Given the description of an element on the screen output the (x, y) to click on. 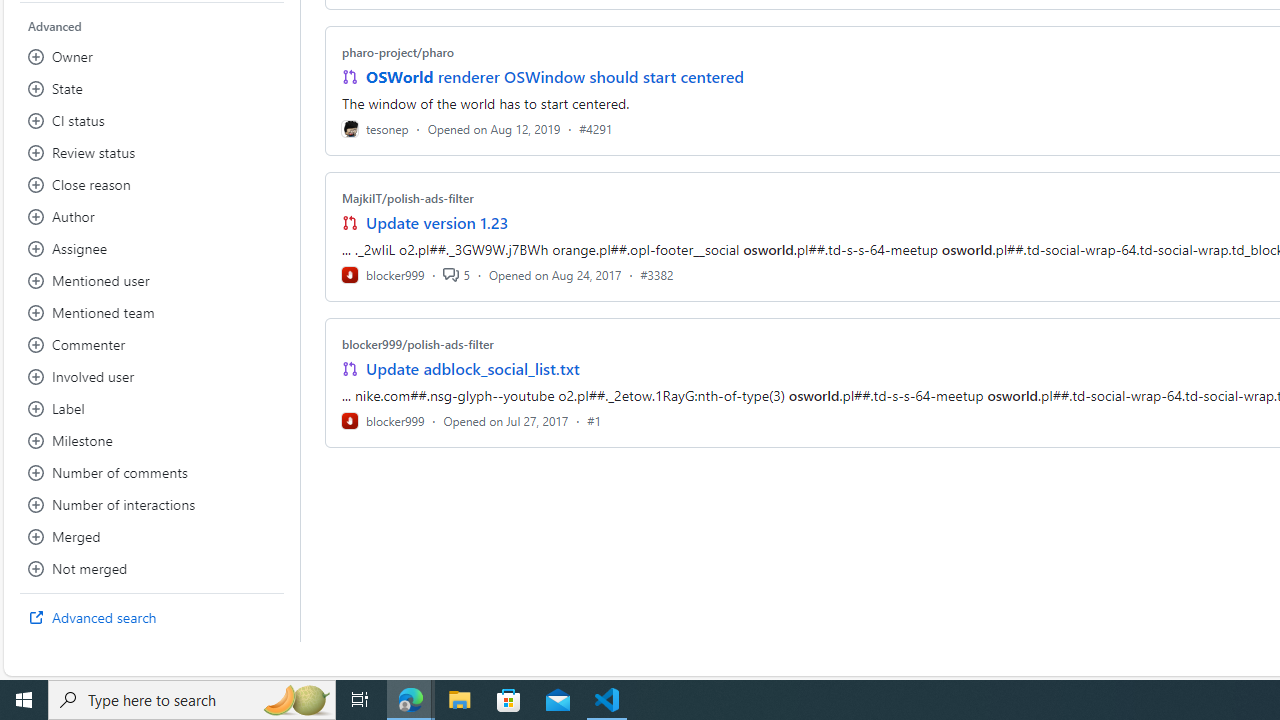
Advanced search (152, 617)
Advanced search (152, 617)
#4291 (595, 128)
